Given the description of an element on the screen output the (x, y) to click on. 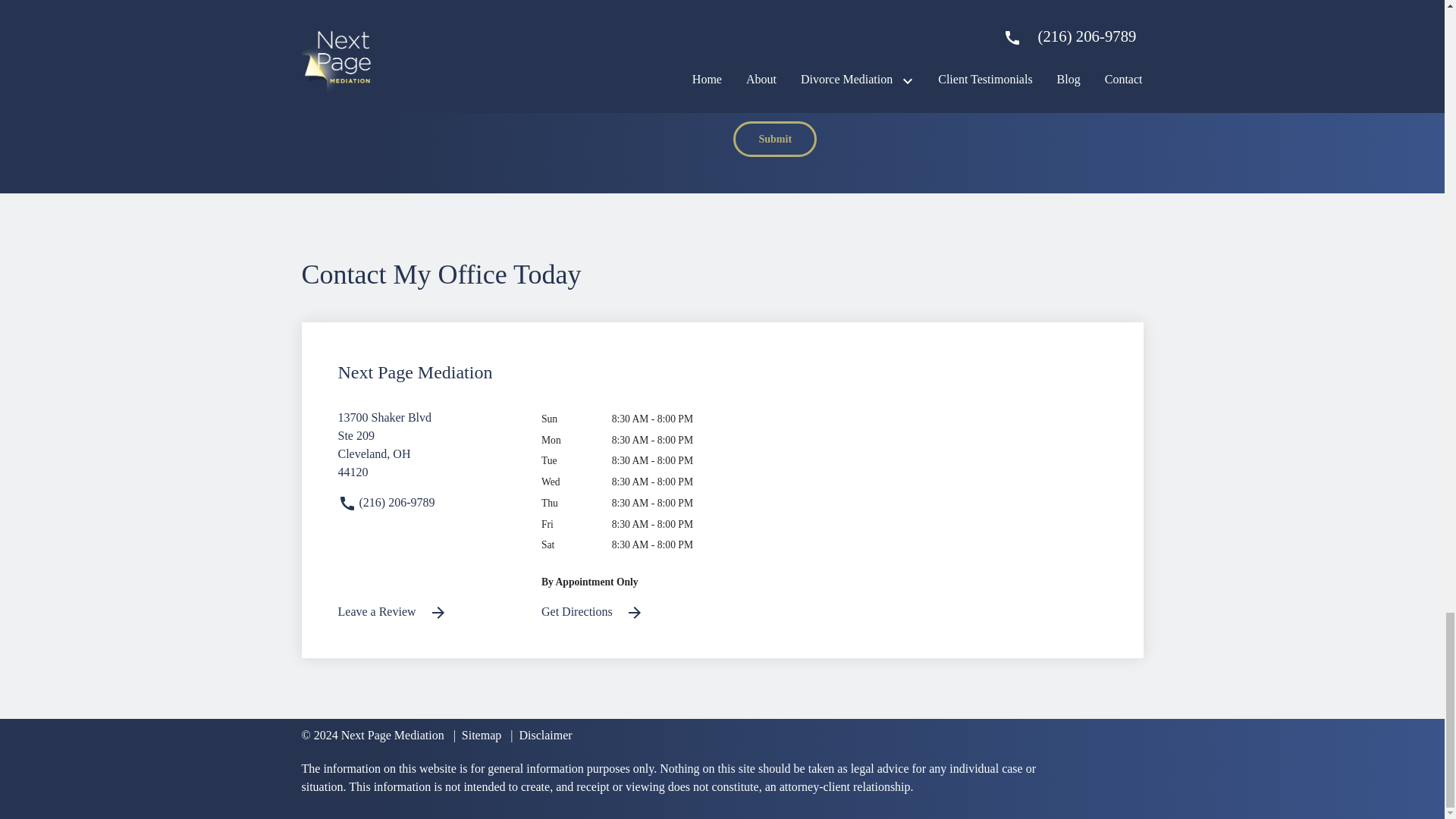
Sitemap (477, 735)
Leave a Review (428, 611)
Submit (428, 450)
Disclaimer (774, 139)
Get Directions (541, 735)
